Given the description of an element on the screen output the (x, y) to click on. 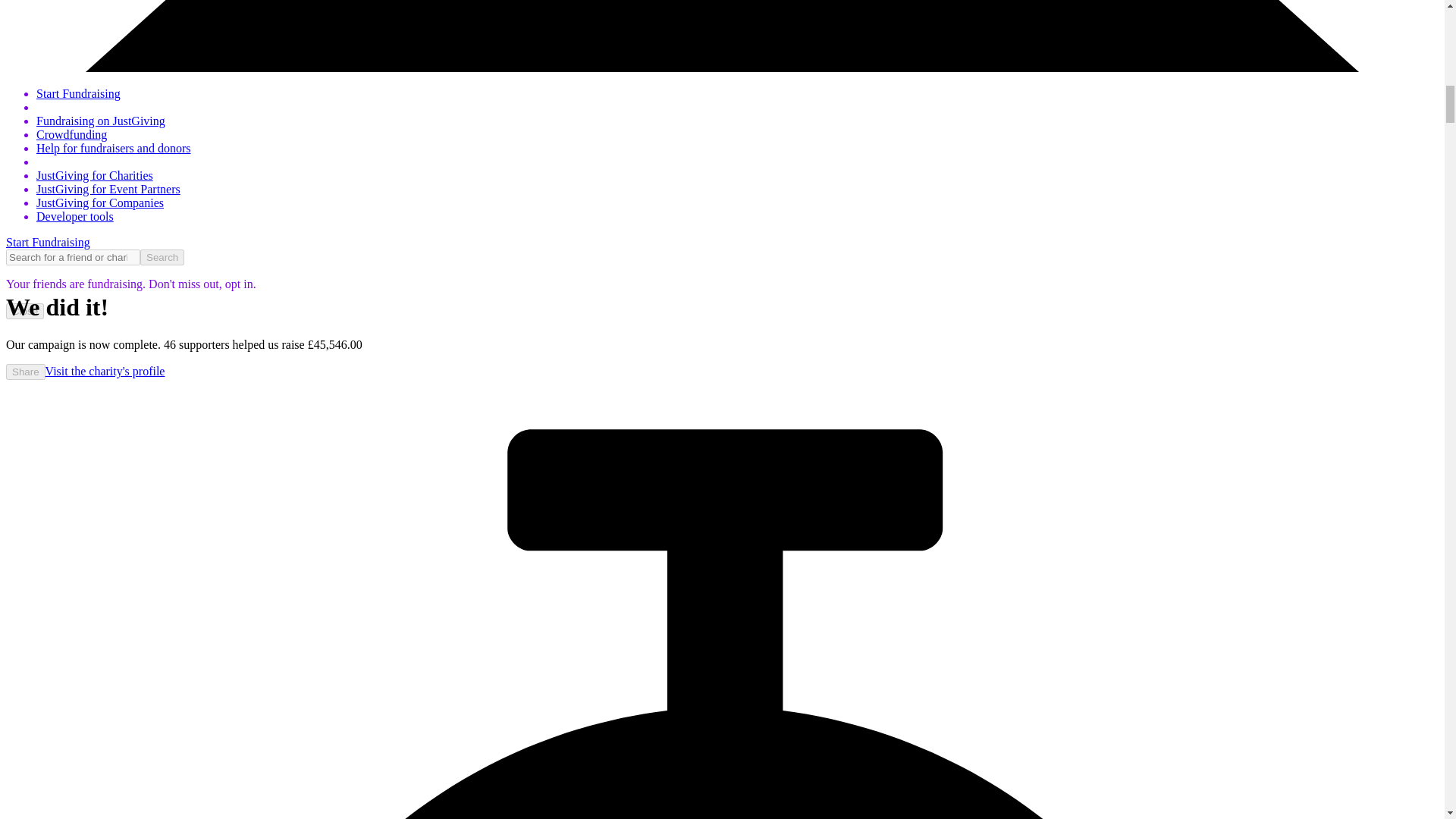
JustGiving for Companies (99, 202)
Help for fundraisers and donors (113, 147)
Visit the charity's profile (105, 370)
opt in. (239, 283)
Fundraising on JustGiving (100, 120)
Crowdfunding (71, 133)
Start Fundraising (47, 241)
JustGiving for Charities (94, 174)
Share (25, 371)
JustGiving for Event Partners (108, 188)
